Given the description of an element on the screen output the (x, y) to click on. 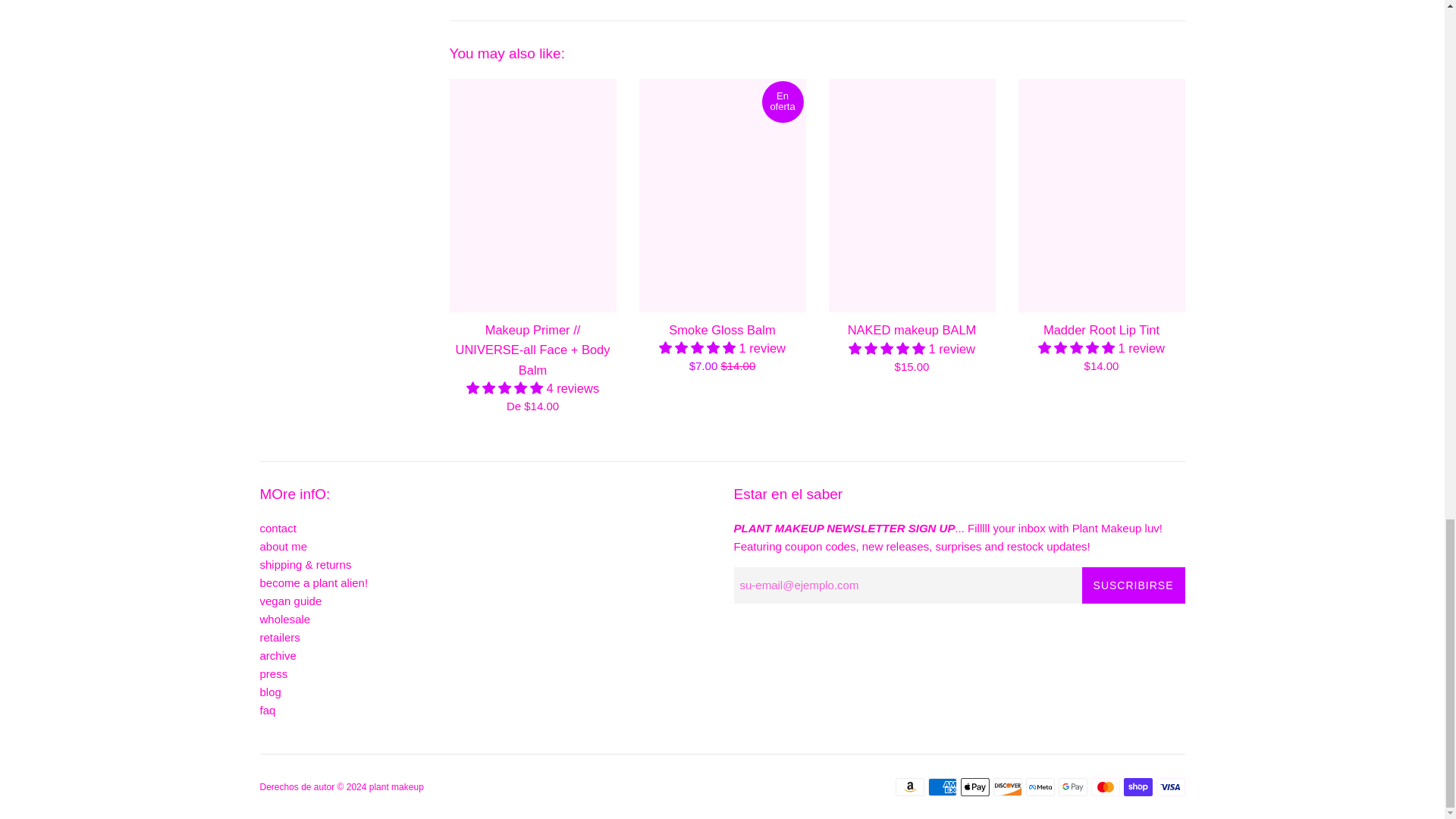
Discover (1007, 787)
American Express (942, 787)
Amazon (909, 787)
Mastercard (1104, 787)
Meta Pay (1039, 787)
Google Pay (1072, 787)
Apple Pay (973, 787)
